Given the description of an element on the screen output the (x, y) to click on. 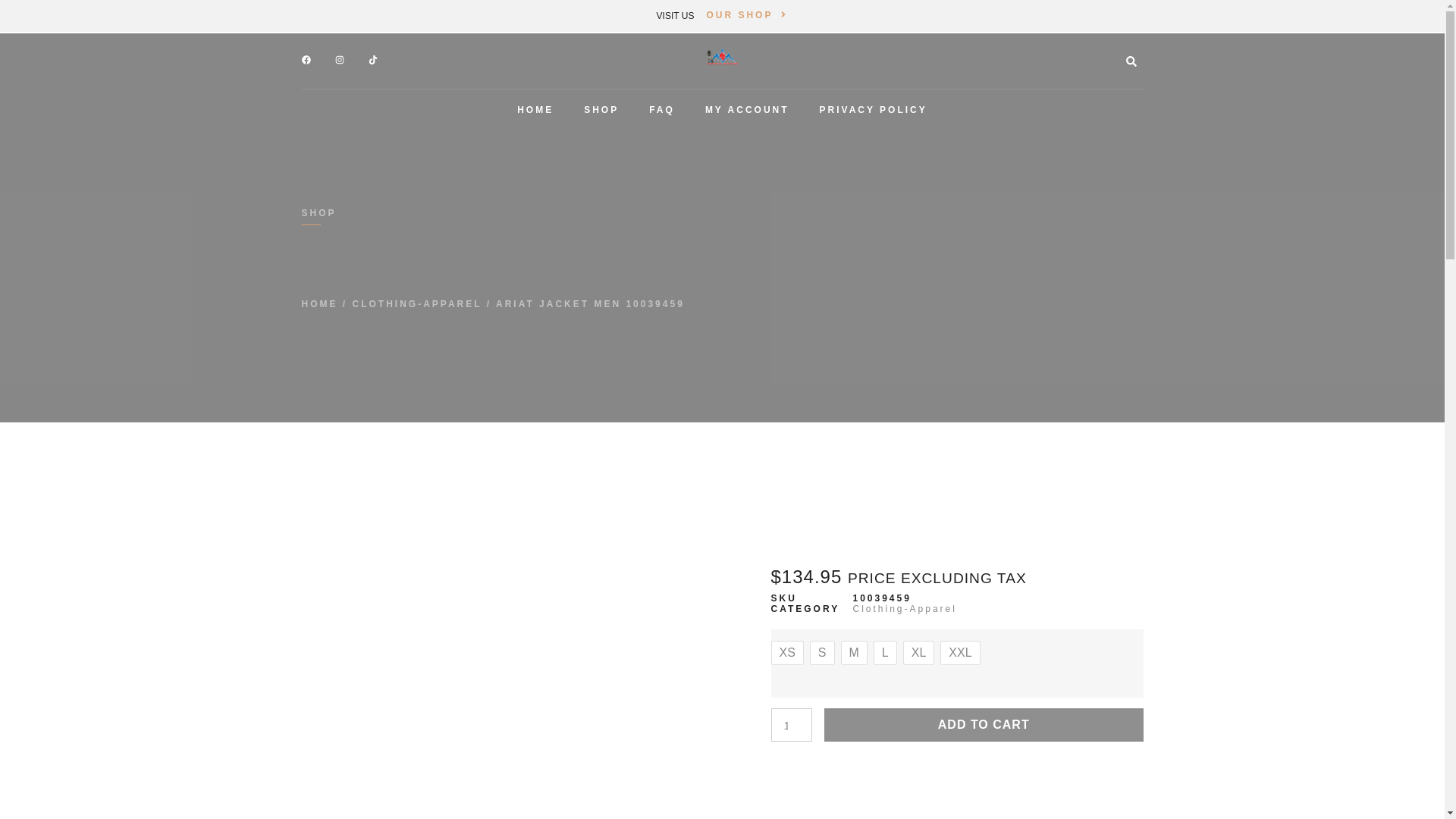
1 (790, 725)
OUR SHOP (746, 15)
